Given the description of an element on the screen output the (x, y) to click on. 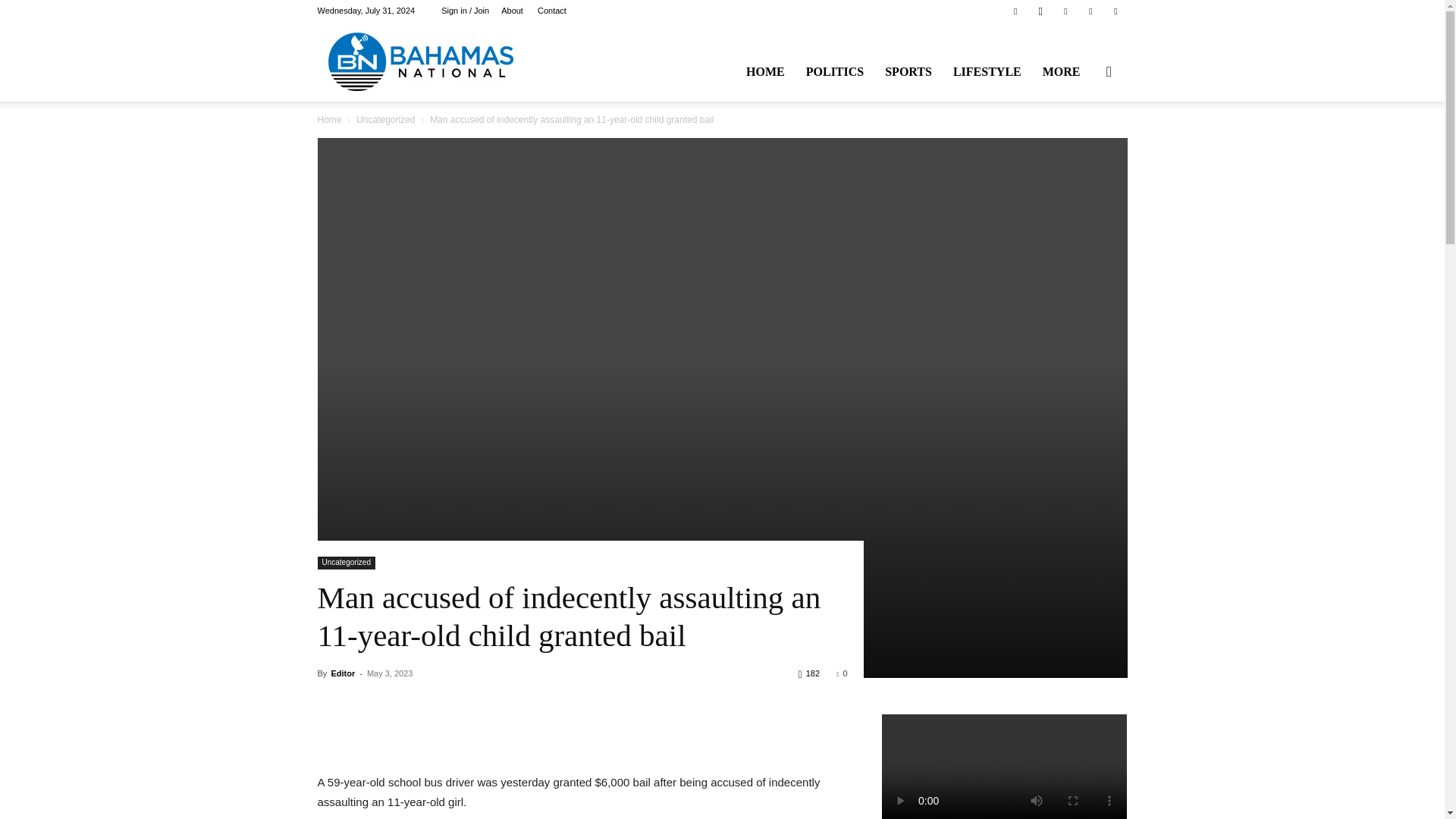
Youtube (1114, 10)
Contact (551, 10)
Twitter (1065, 10)
Instagram (1040, 10)
HOME (764, 71)
Facebook (1015, 10)
Search (1085, 143)
Bahamas National (419, 61)
About (511, 10)
POLITICS (834, 71)
Vimeo (1090, 10)
